Given the description of an element on the screen output the (x, y) to click on. 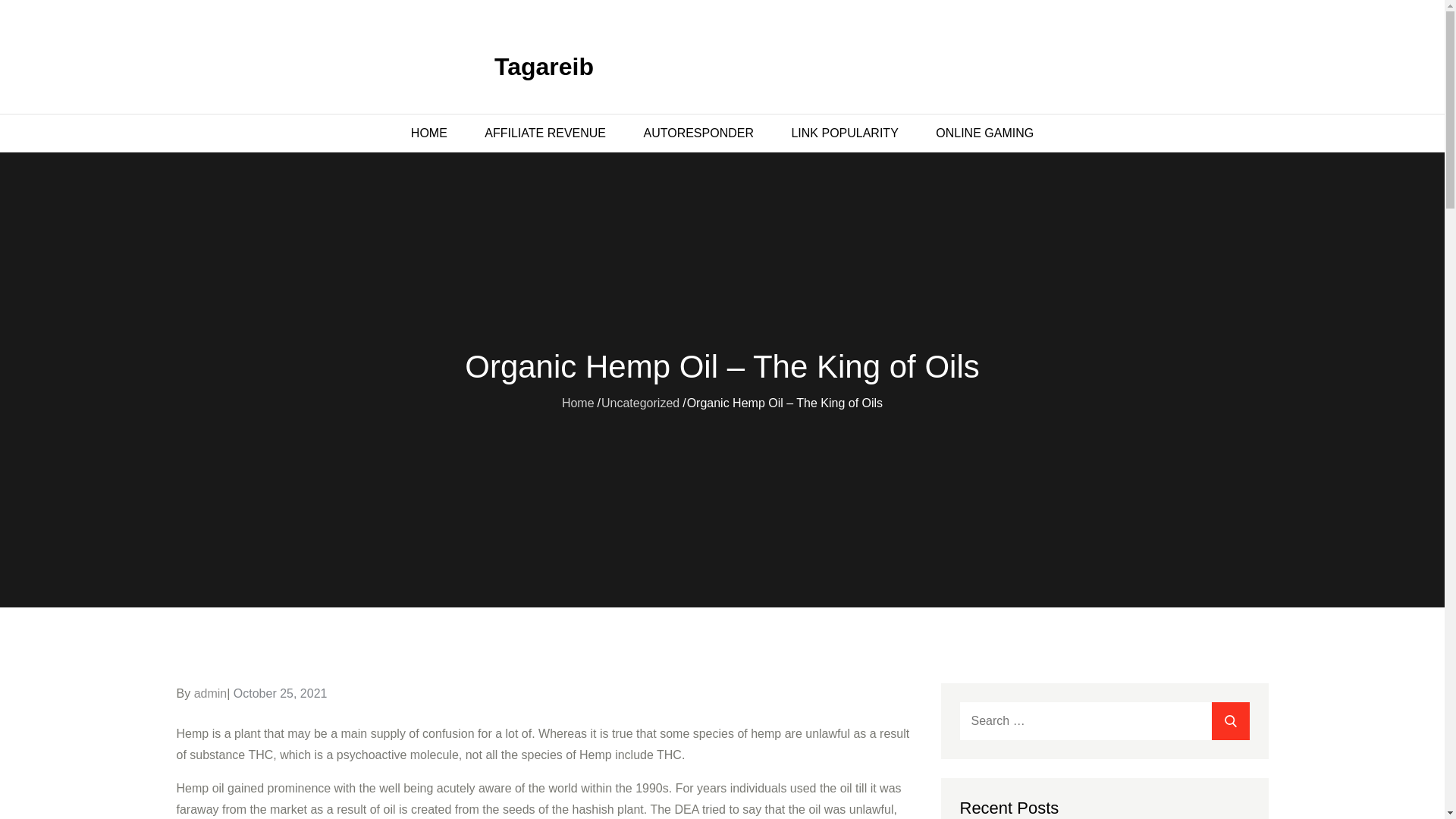
Uncategorized (640, 402)
Home (578, 402)
Tagareib (544, 66)
SEARCH (1230, 720)
ONLINE GAMING (984, 133)
AUTORESPONDER (697, 133)
HOME (428, 133)
admin (210, 693)
AFFILIATE REVENUE (544, 133)
October 25, 2021 (279, 693)
